Given the description of an element on the screen output the (x, y) to click on. 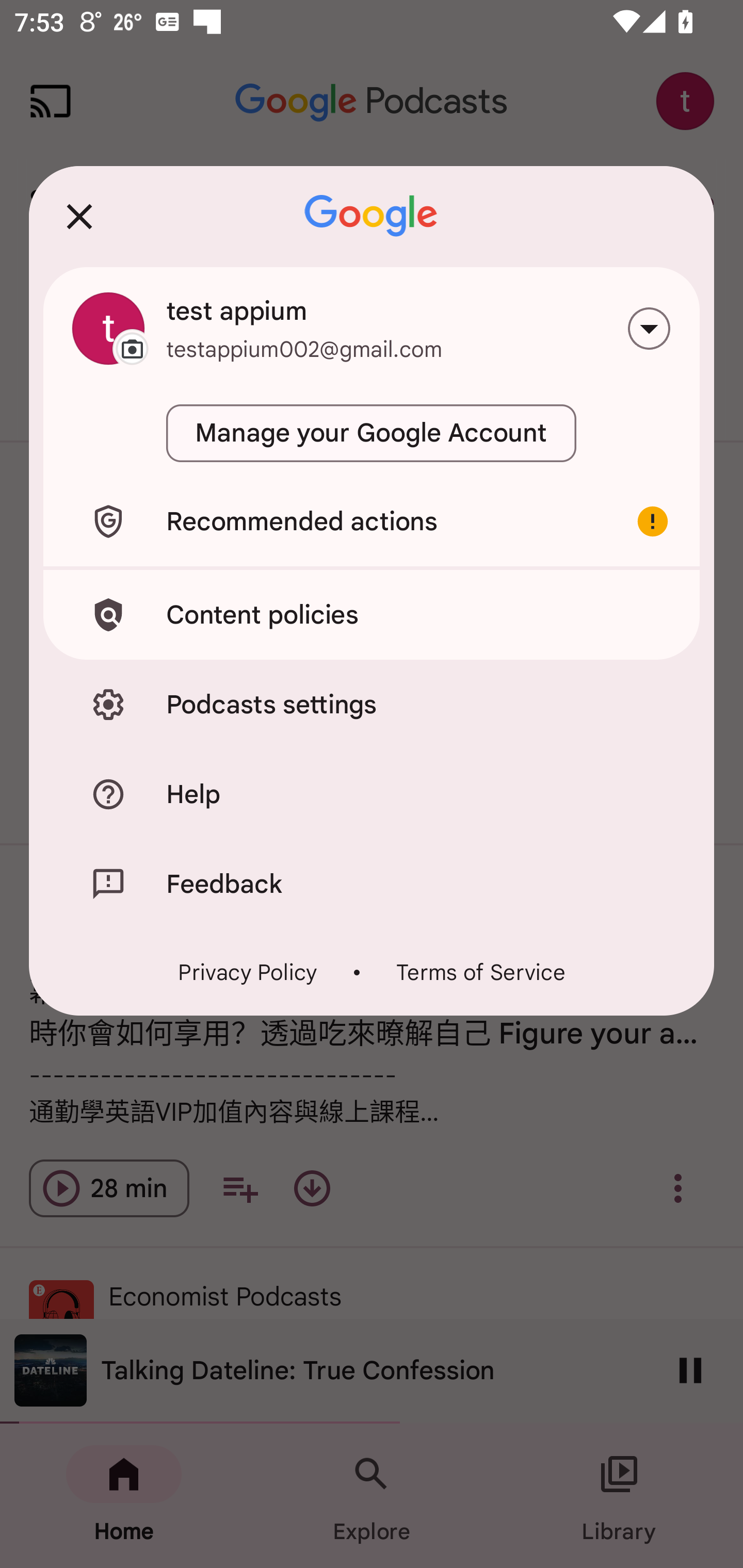
Close (79, 216)
Change profile picture. (108, 328)
Manage your Google Account (371, 433)
Recommended actions Important account alert (371, 521)
Content policies (371, 614)
Privacy Policy (247, 972)
Terms of Service (479, 972)
